Given the description of an element on the screen output the (x, y) to click on. 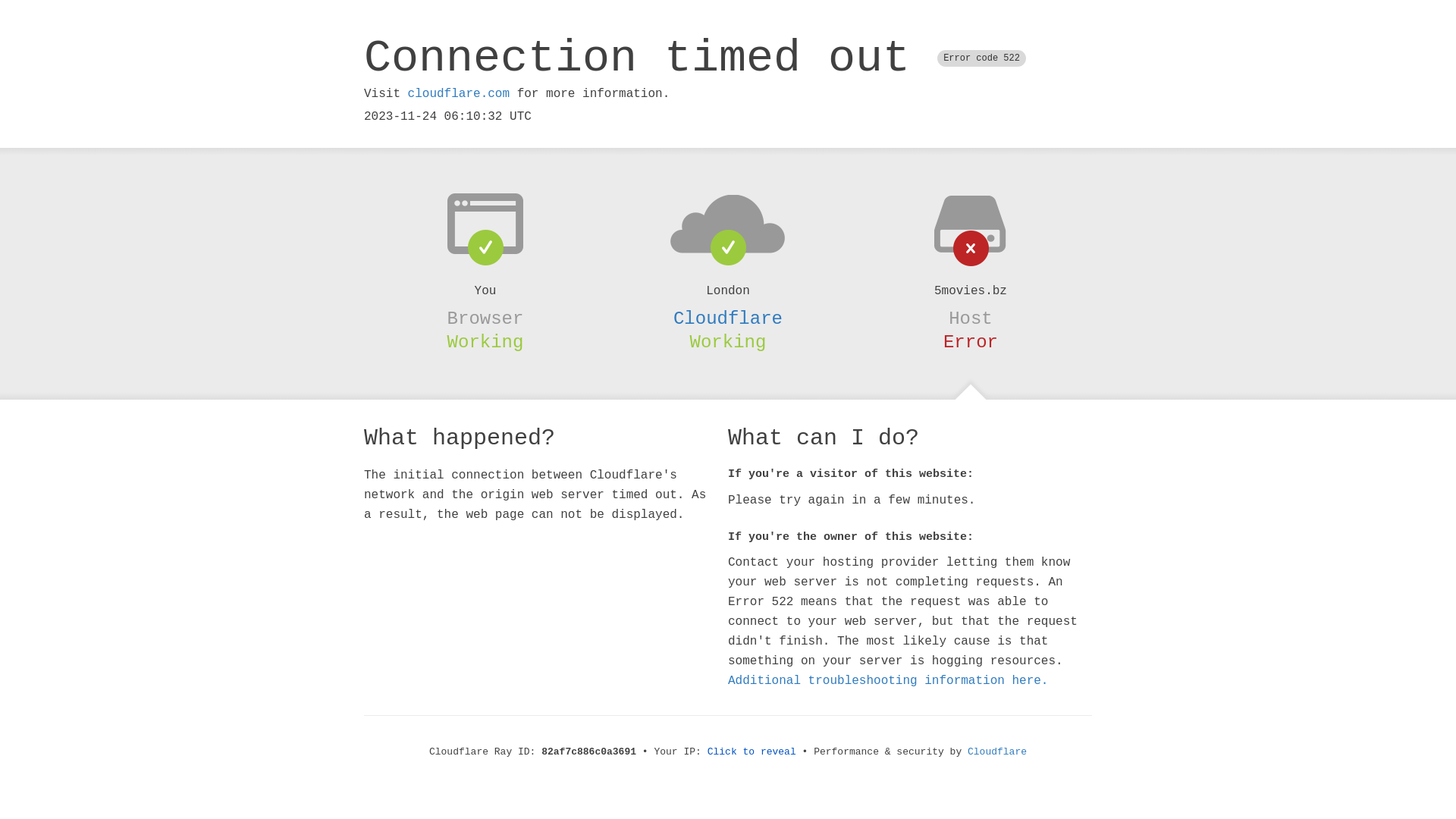
Cloudflare Element type: text (727, 318)
cloudflare.com Element type: text (458, 93)
Cloudflare Element type: text (996, 751)
Additional troubleshooting information here. Element type: text (888, 680)
Click to reveal Element type: text (751, 751)
